Given the description of an element on the screen output the (x, y) to click on. 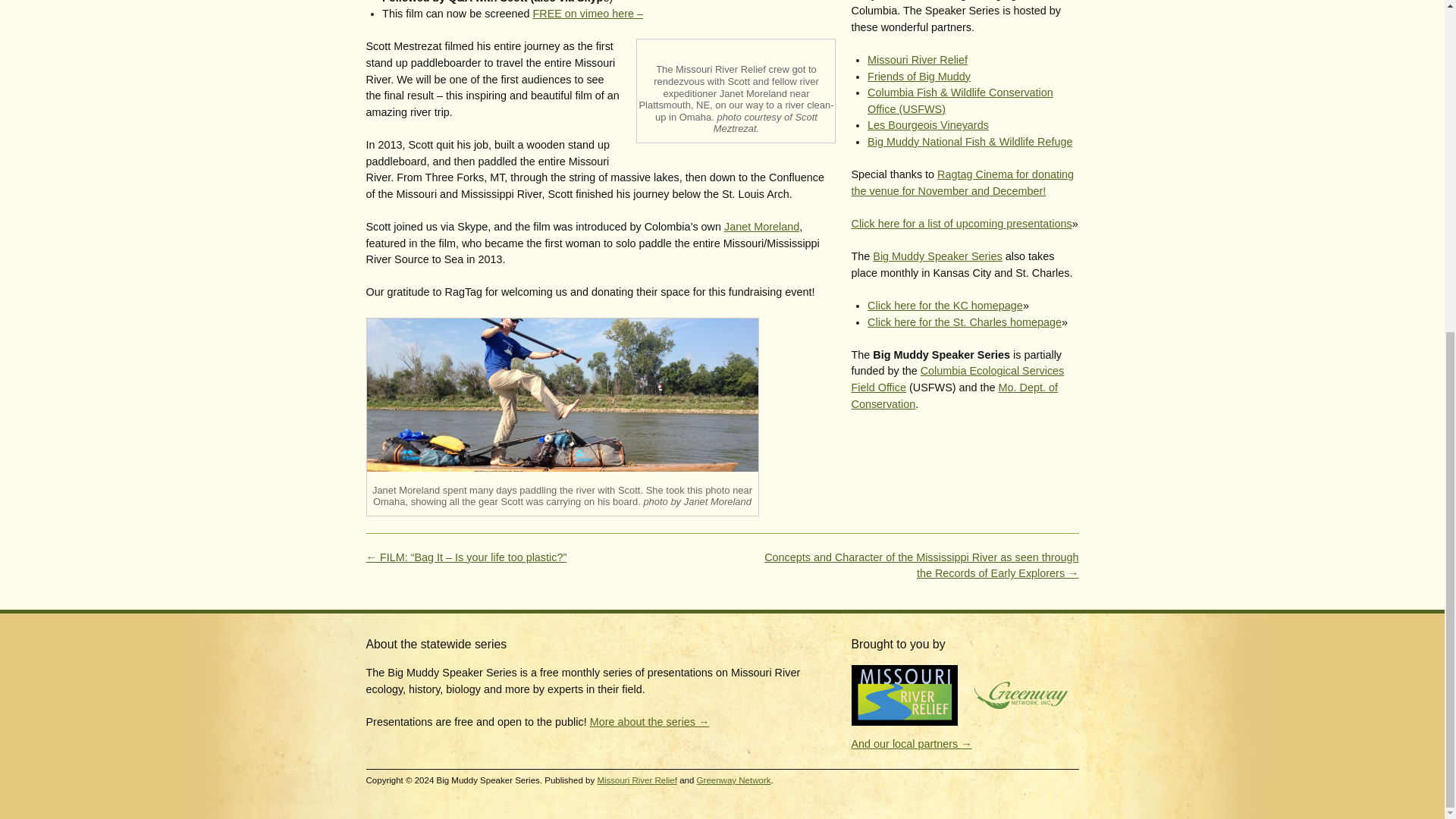
Missouri River Relief (917, 60)
Friends of Big Muddy (919, 76)
Les Bourgeois Vineyards (927, 124)
Janet Moreland (761, 226)
